Given the description of an element on the screen output the (x, y) to click on. 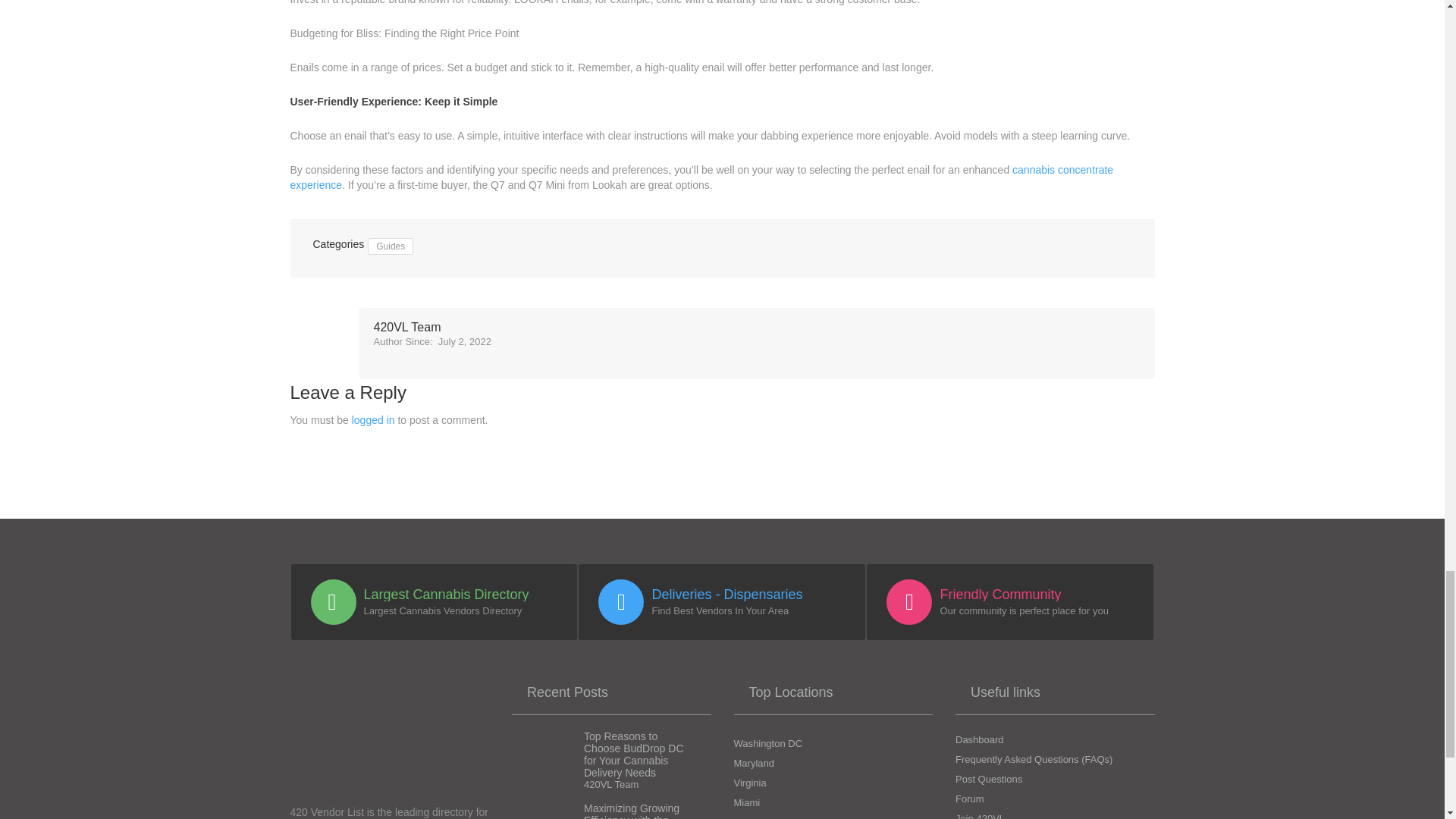
420VL Team (431, 327)
cannabis concentrate experience (701, 176)
Guides (390, 246)
logged in (373, 419)
